Given the description of an element on the screen output the (x, y) to click on. 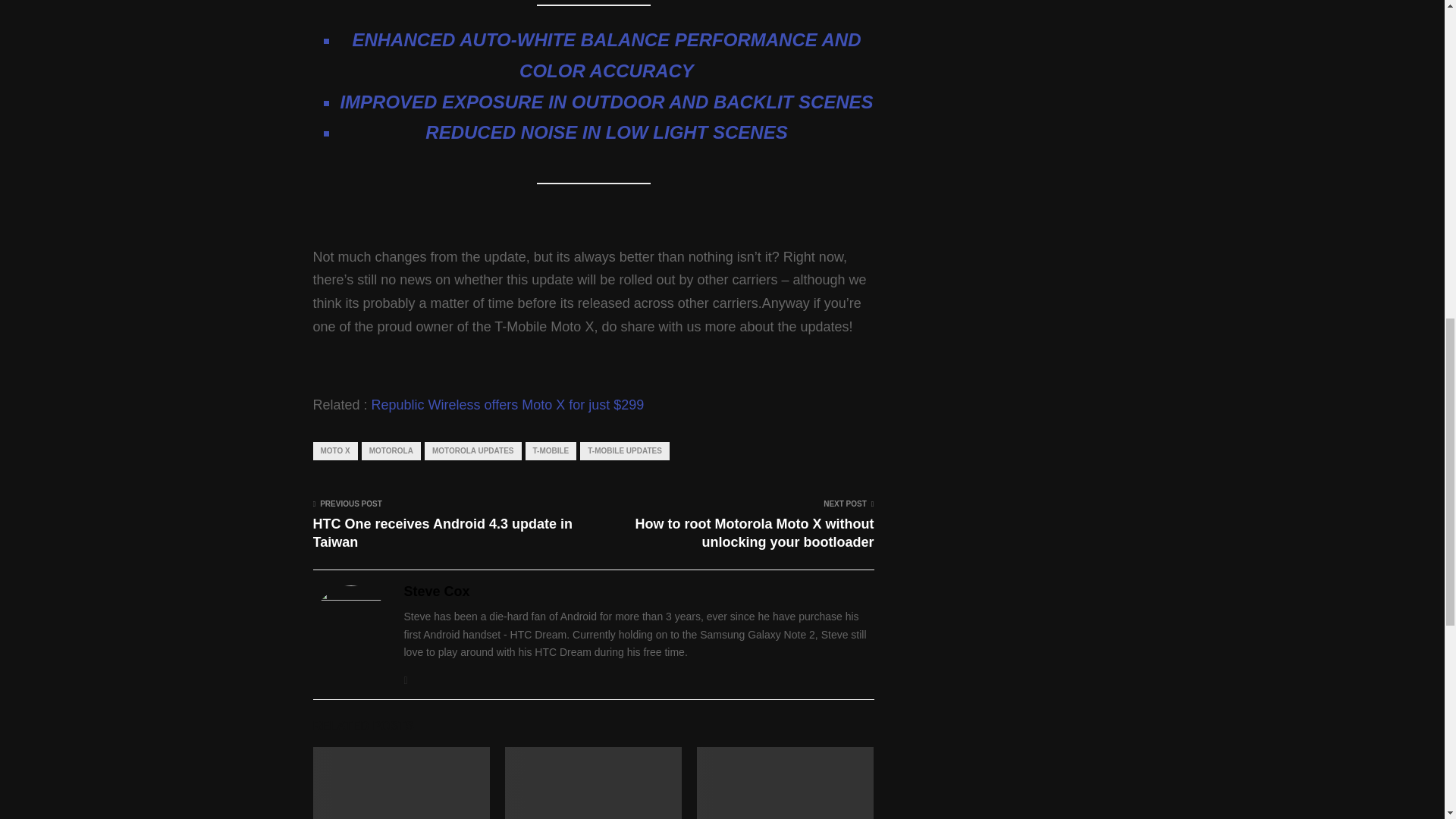
Posts by Steve Cox (435, 591)
MOTOROLA (390, 451)
T-MOBILE (550, 451)
MOTOROLA UPDATES (473, 451)
MOTO X (334, 451)
T-MOBILE UPDATES (624, 451)
